Given the description of an element on the screen output the (x, y) to click on. 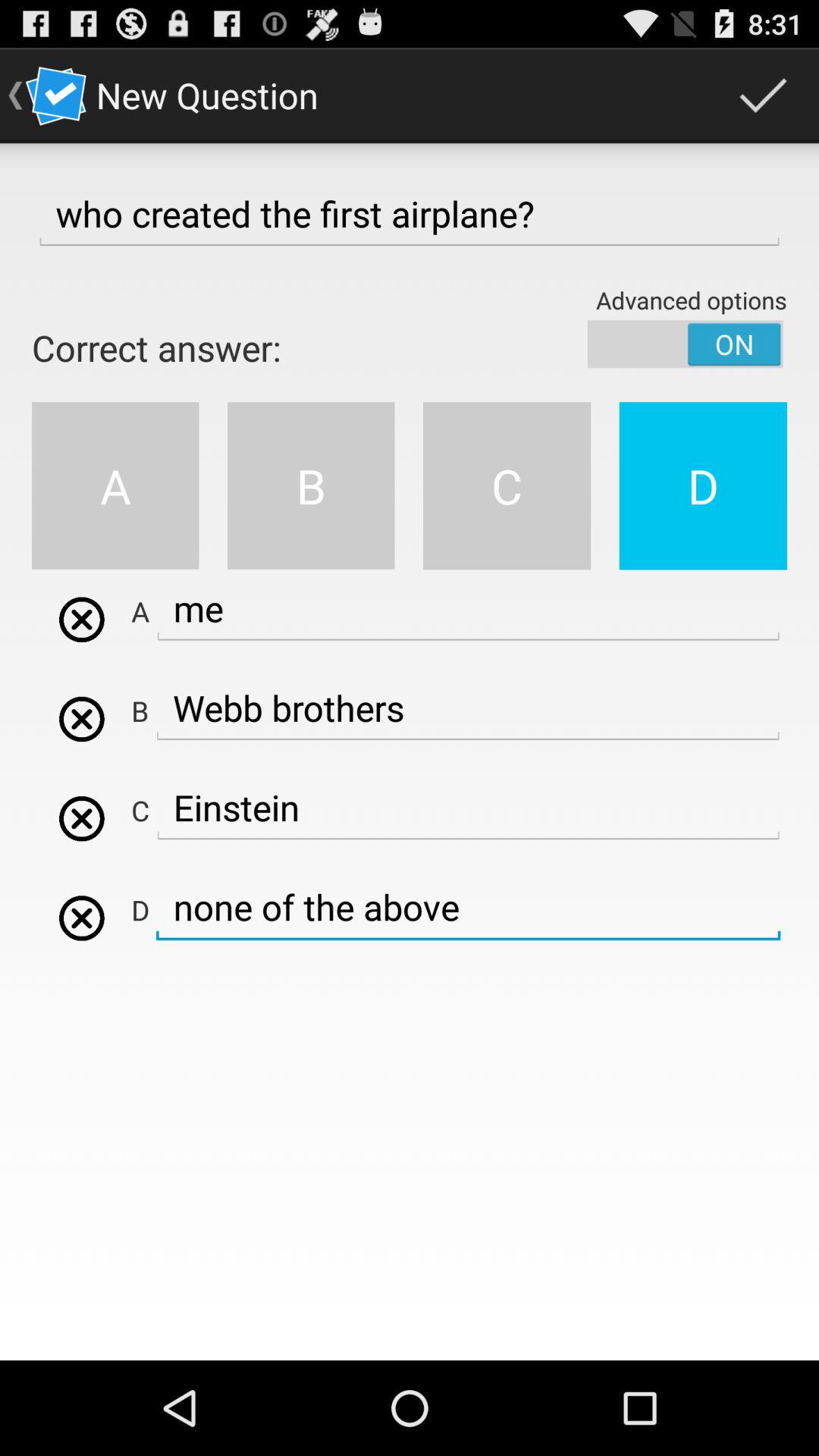
remove choice c (81, 818)
